Given the description of an element on the screen output the (x, y) to click on. 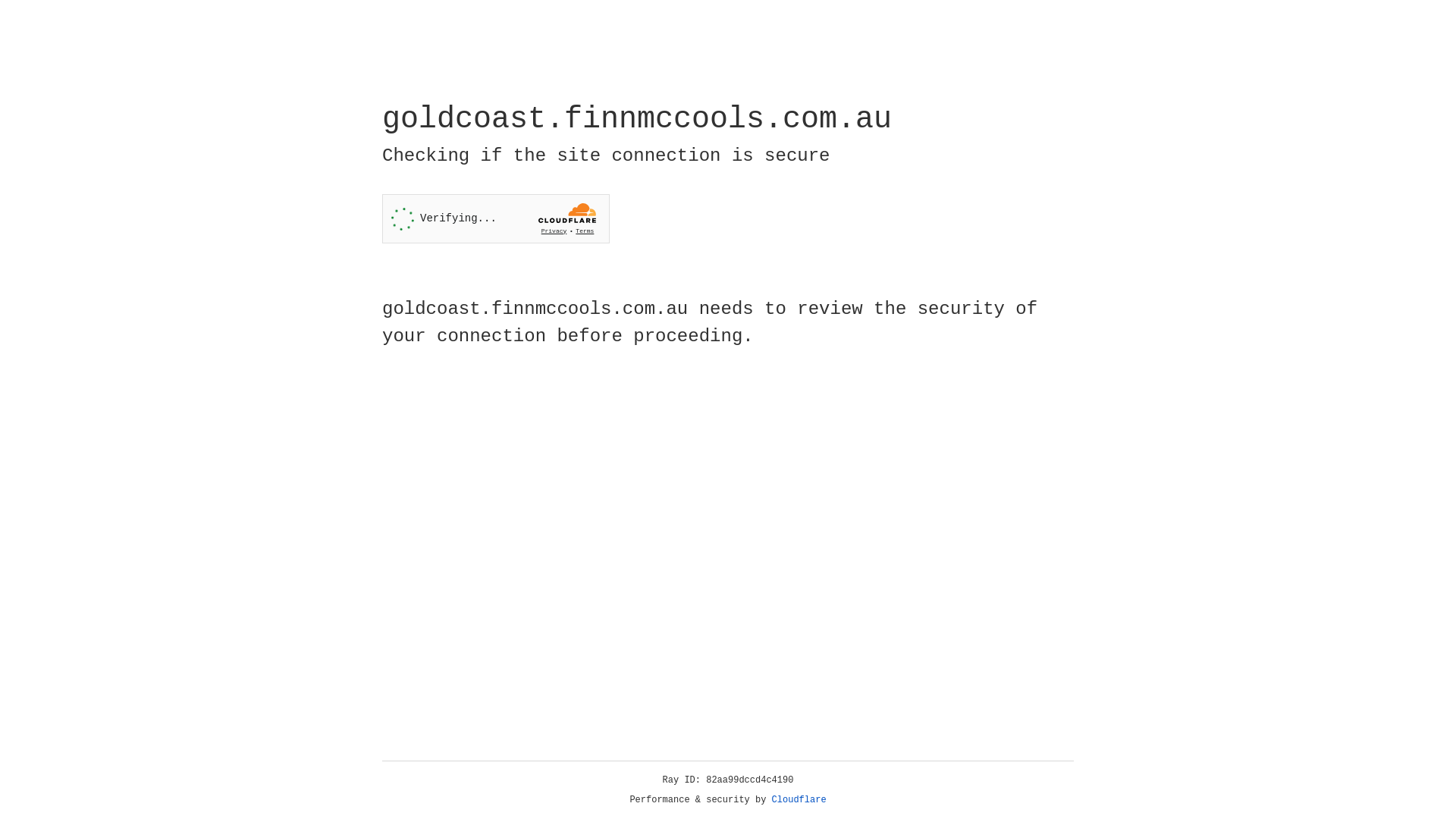
Cloudflare Element type: text (798, 799)
Widget containing a Cloudflare security challenge Element type: hover (495, 218)
